Given the description of an element on the screen output the (x, y) to click on. 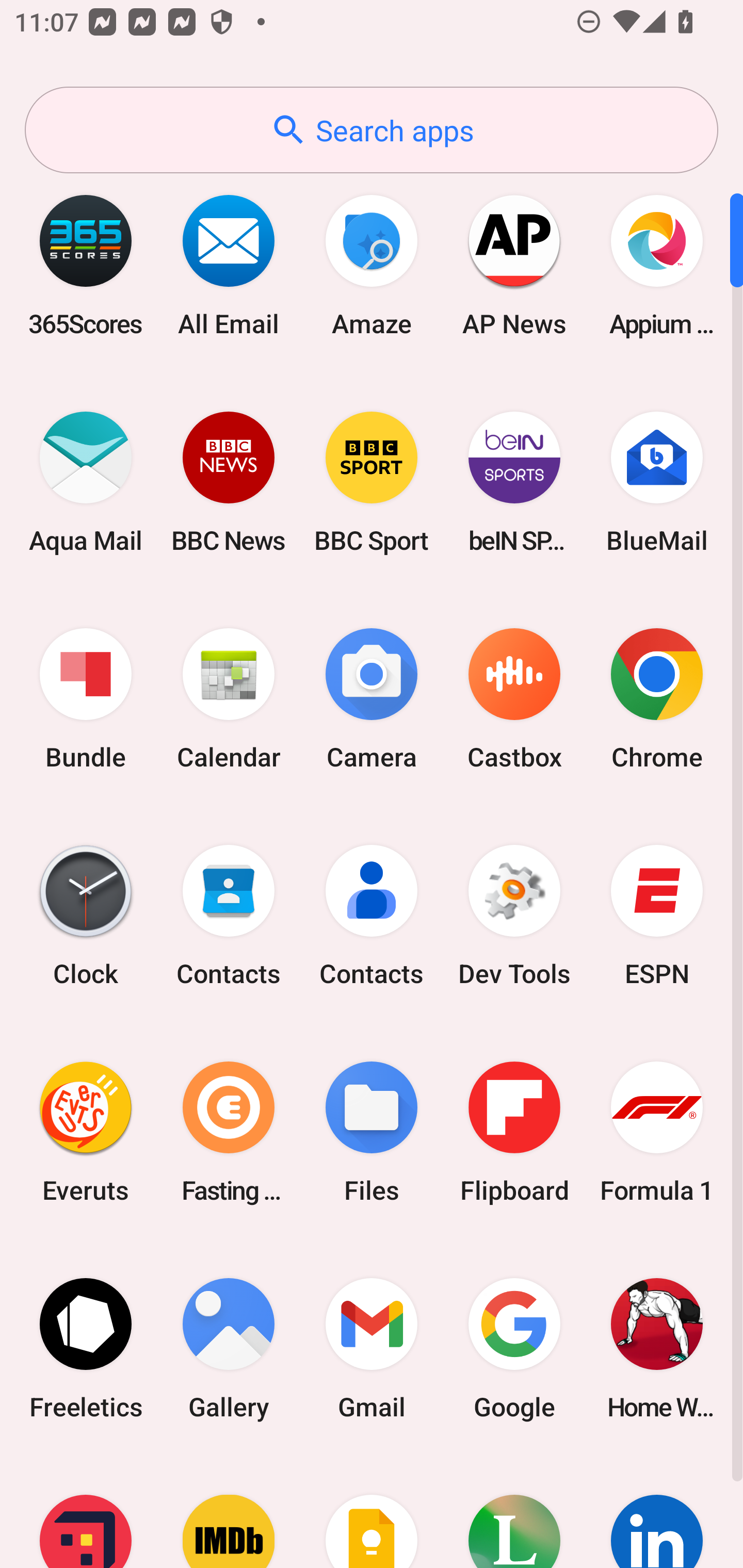
  Search apps (371, 130)
365Scores (85, 264)
All Email (228, 264)
Amaze (371, 264)
AP News (514, 264)
Appium Settings (656, 264)
Aqua Mail (85, 482)
BBC News (228, 482)
BBC Sport (371, 482)
beIN SPORTS (514, 482)
BlueMail (656, 482)
Bundle (85, 699)
Calendar (228, 699)
Camera (371, 699)
Castbox (514, 699)
Chrome (656, 699)
Clock (85, 915)
Contacts (228, 915)
Contacts (371, 915)
Dev Tools (514, 915)
ESPN (656, 915)
Everuts (85, 1131)
Fasting Coach (228, 1131)
Files (371, 1131)
Flipboard (514, 1131)
Formula 1 (656, 1131)
Freeletics (85, 1348)
Gallery (228, 1348)
Gmail (371, 1348)
Google (514, 1348)
Home Workout (656, 1348)
Hotels.com (85, 1512)
IMDb (228, 1512)
Keep Notes (371, 1512)
Lifesum (514, 1512)
LinkedIn (656, 1512)
